Given the description of an element on the screen output the (x, y) to click on. 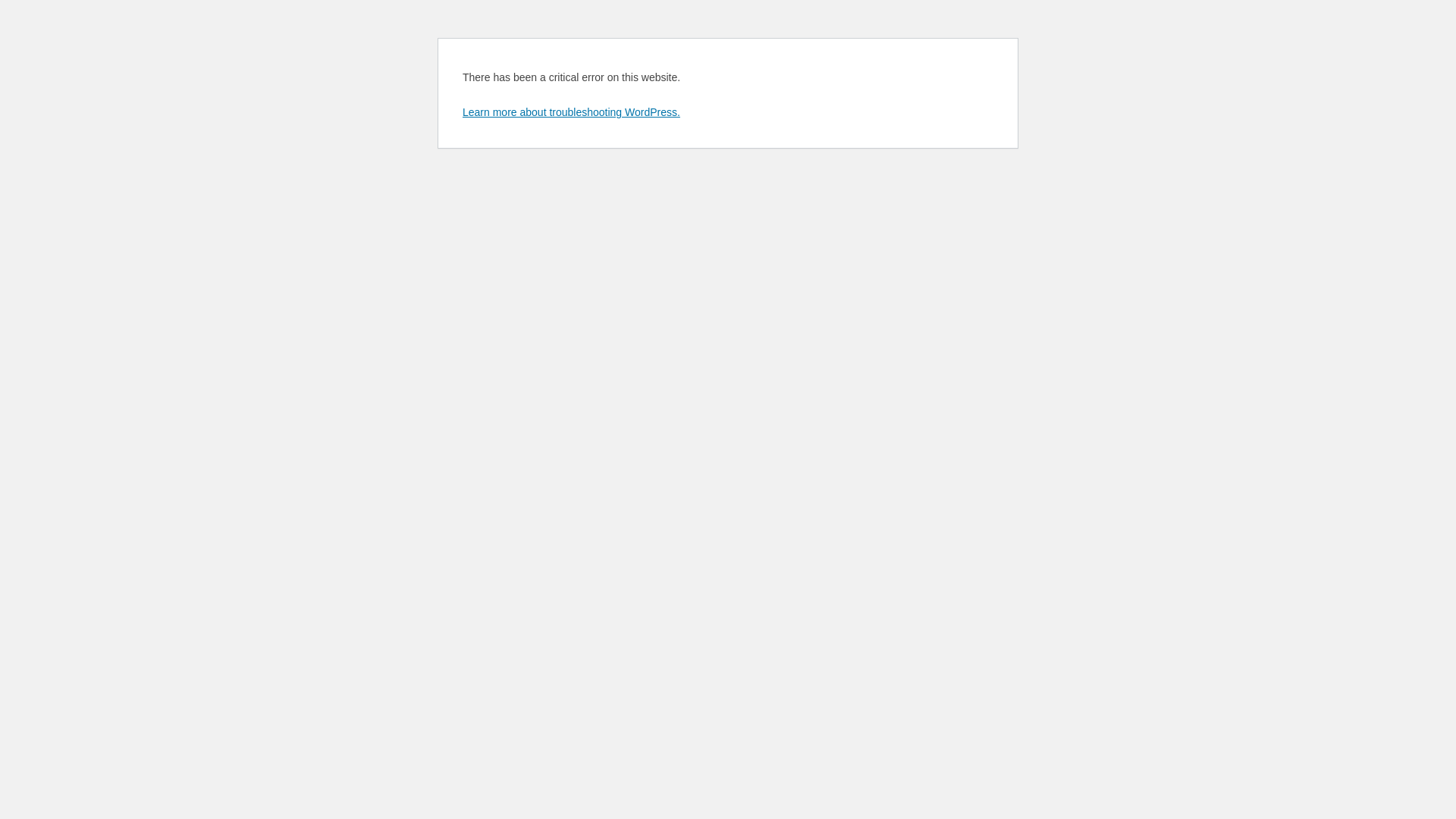
Learn more about troubleshooting WordPress. Element type: text (571, 112)
